Given the description of an element on the screen output the (x, y) to click on. 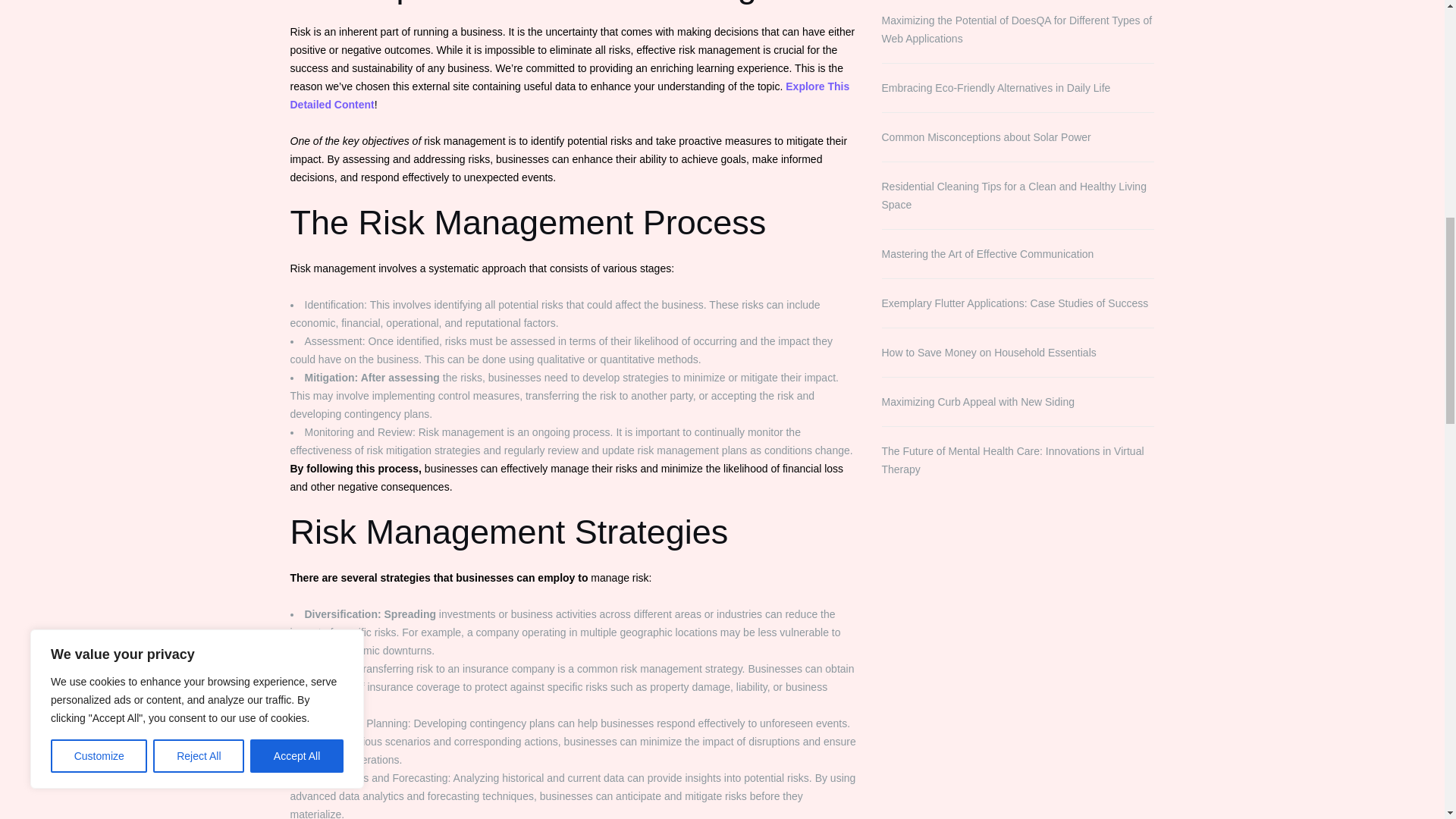
Explore This Detailed Content (568, 95)
